Given the description of an element on the screen output the (x, y) to click on. 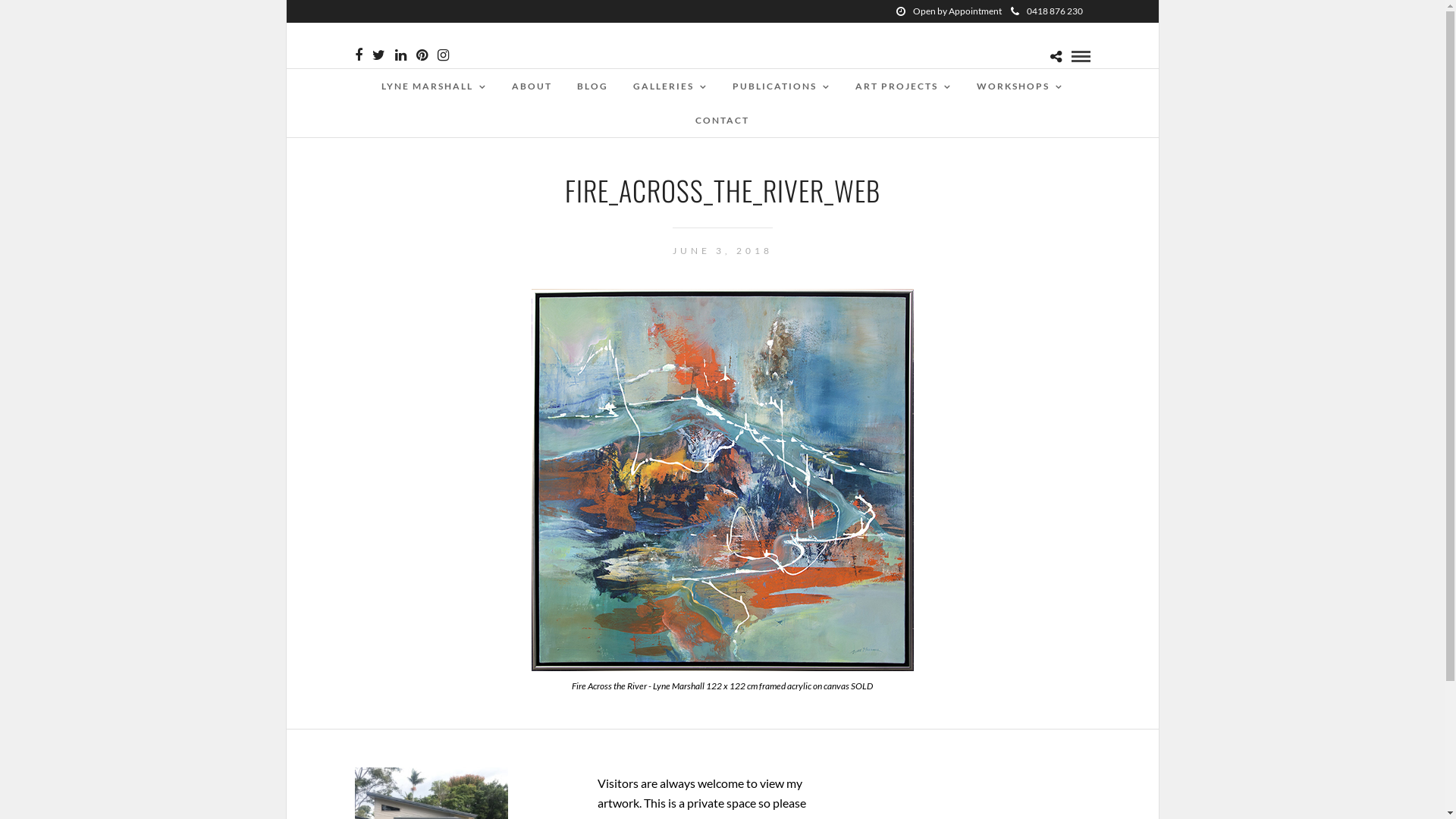
LYNE MARSHALL Element type: text (434, 86)
WORKSHOPS Element type: text (1019, 86)
Instagram Element type: hover (442, 55)
Pinterest Element type: hover (420, 55)
GALLERIES Element type: text (669, 86)
CONTACT Element type: text (722, 120)
BLOG Element type: text (592, 86)
PUBLICATIONS Element type: text (781, 86)
0418 876 230 Element type: text (1046, 10)
Linkedin Element type: hover (399, 55)
ABOUT Element type: text (531, 86)
ART PROJECTS Element type: text (903, 86)
